Given the description of an element on the screen output the (x, y) to click on. 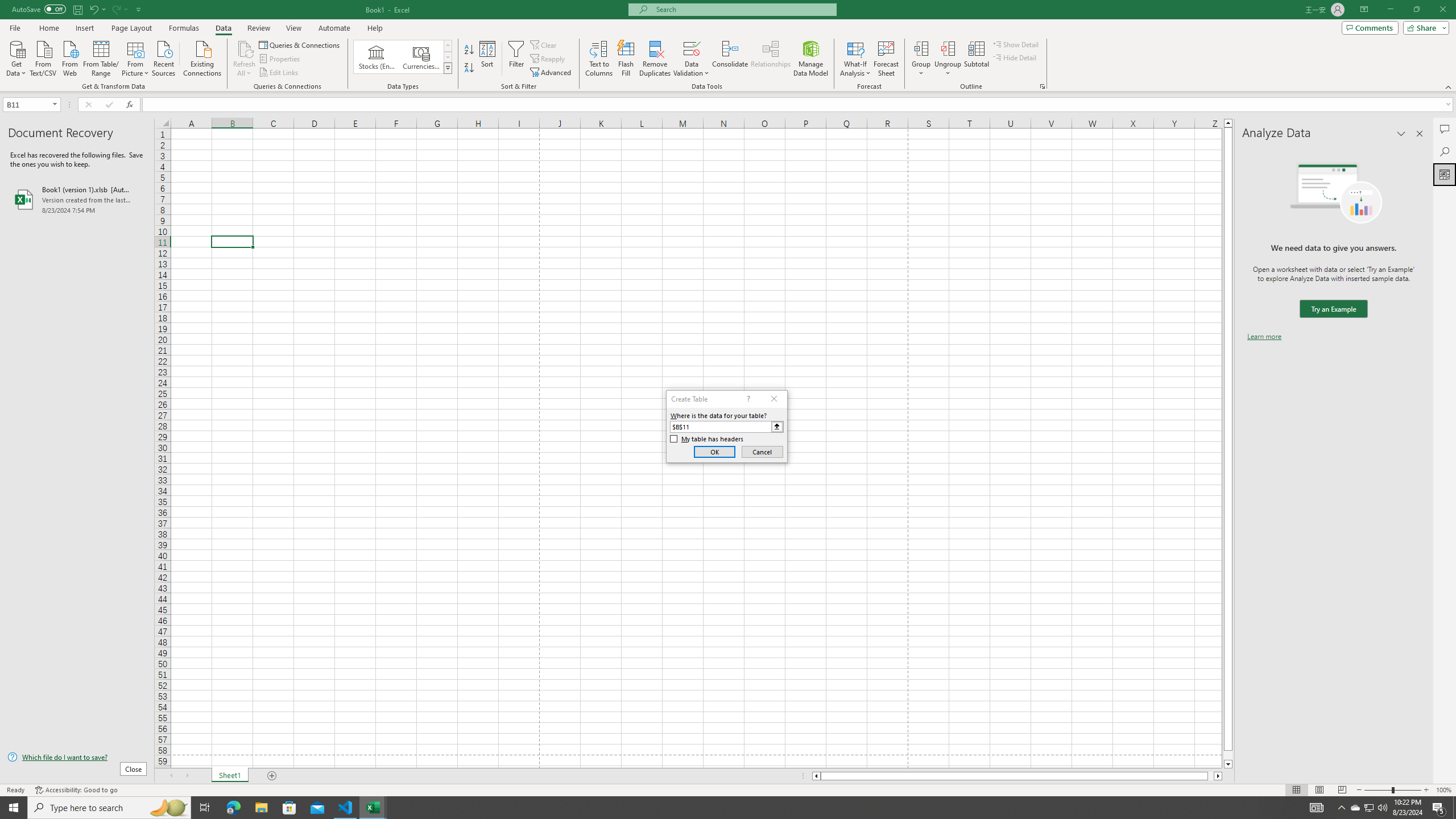
AutomationID: ConvertToLinkedEntity (403, 56)
Group... (921, 58)
Task Pane Options (1400, 133)
Stocks (English) (375, 56)
Advanced... (551, 72)
We need data to give you answers. Try an Example (1333, 308)
Refresh All (244, 58)
Which file do I want to save? (77, 757)
Class: MsoCommandBar (728, 45)
Quick Access Toolbar (77, 9)
Ribbon Display Options (1364, 9)
Formula Bar (799, 104)
Text to Columns... (598, 58)
